Given the description of an element on the screen output the (x, y) to click on. 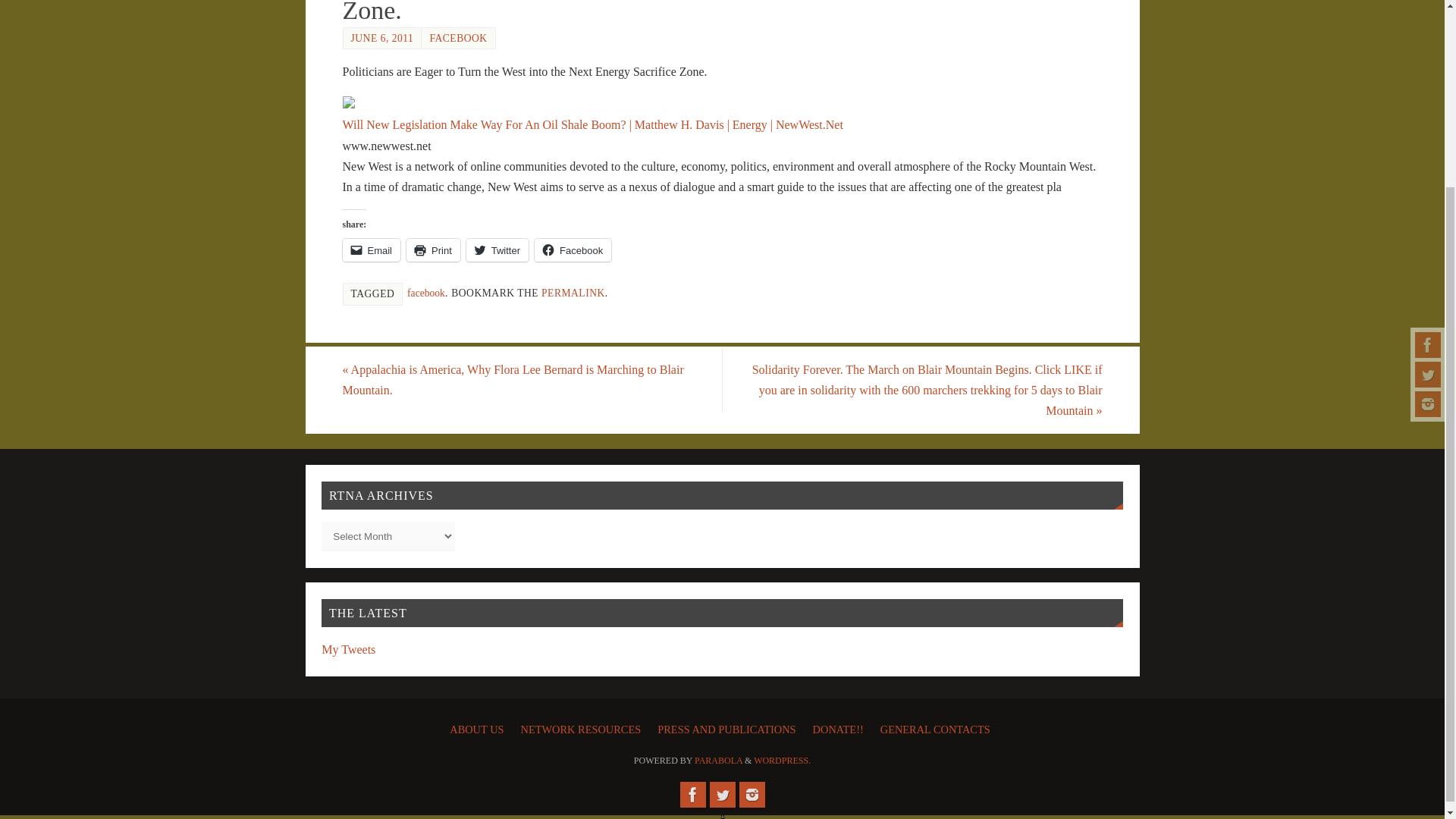
Click to email a link to a friend (371, 250)
Click to print (433, 250)
Instagram (751, 794)
Twitter (1428, 139)
Click to share on Twitter (496, 250)
Instagram (1428, 168)
Facebook (691, 794)
Click to share on Facebook (572, 250)
Parabola Theme by Cryout Creations (718, 760)
FACEBOOK (457, 38)
Semantic Personal Publishing Platform (782, 760)
Twitter (722, 794)
JUNE 6, 2011 (381, 38)
Facebook (1428, 109)
